Given the description of an element on the screen output the (x, y) to click on. 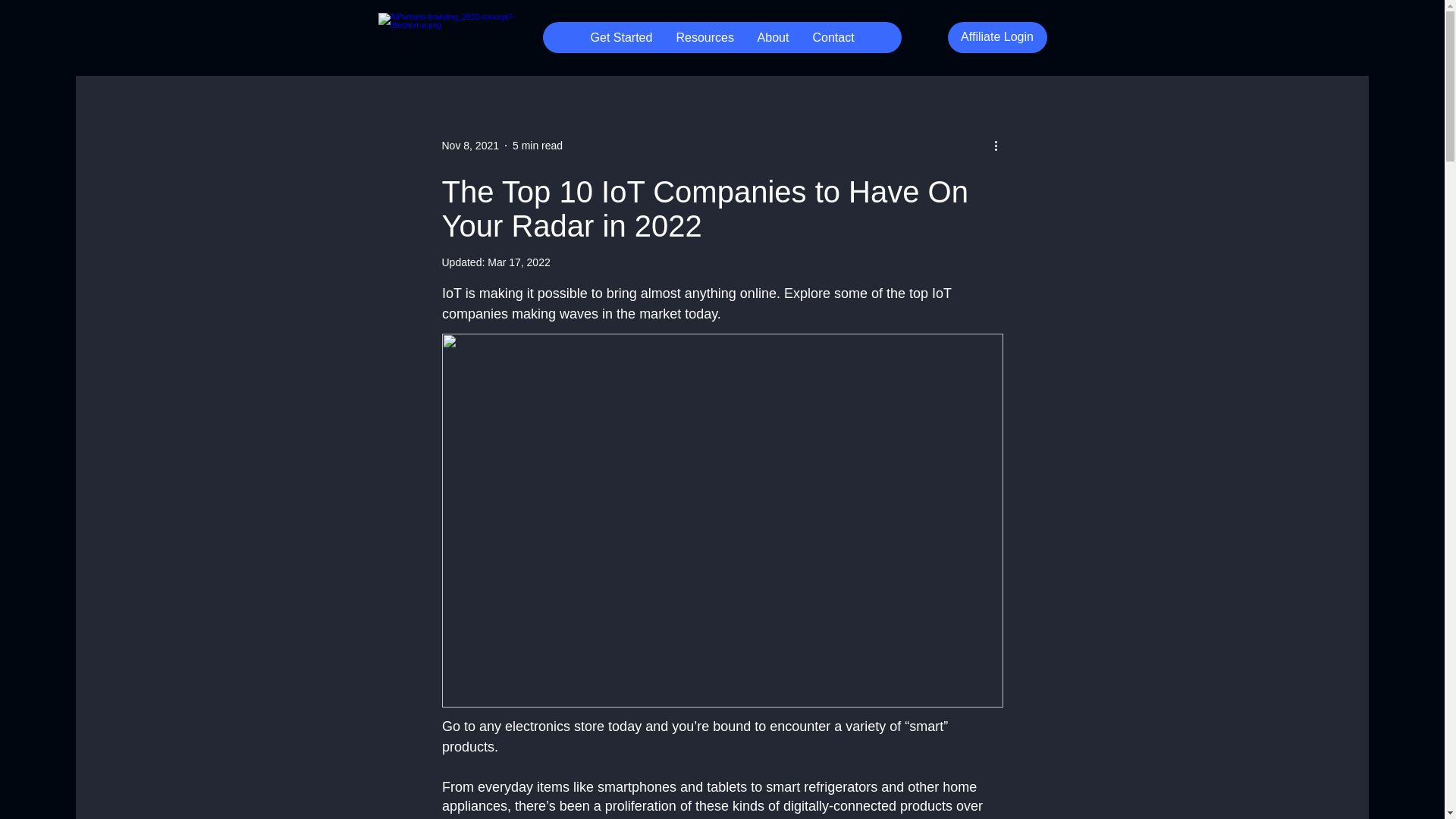
Mar 17, 2022 (518, 262)
Affiliate Login (996, 37)
Nov 8, 2021 (470, 145)
5 min read (537, 145)
Contact (833, 37)
